Given the description of an element on the screen output the (x, y) to click on. 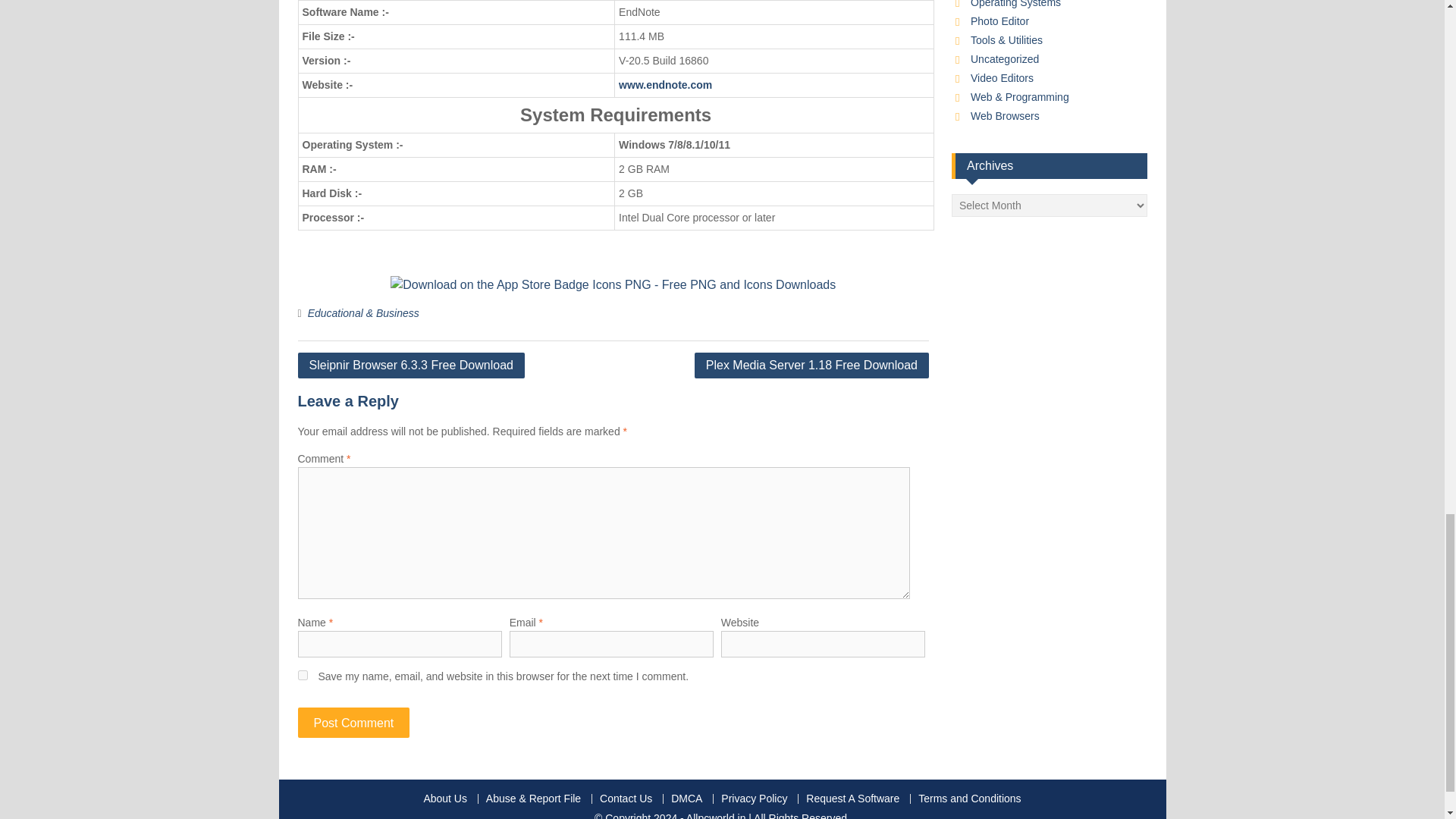
Post Comment (353, 722)
yes (302, 675)
www.endnote.com (664, 84)
Sleipnir Browser 6.3.3 Free Download (410, 365)
Post Comment (353, 722)
Plex Media Server 1.18 Free Download (811, 365)
